Given the description of an element on the screen output the (x, y) to click on. 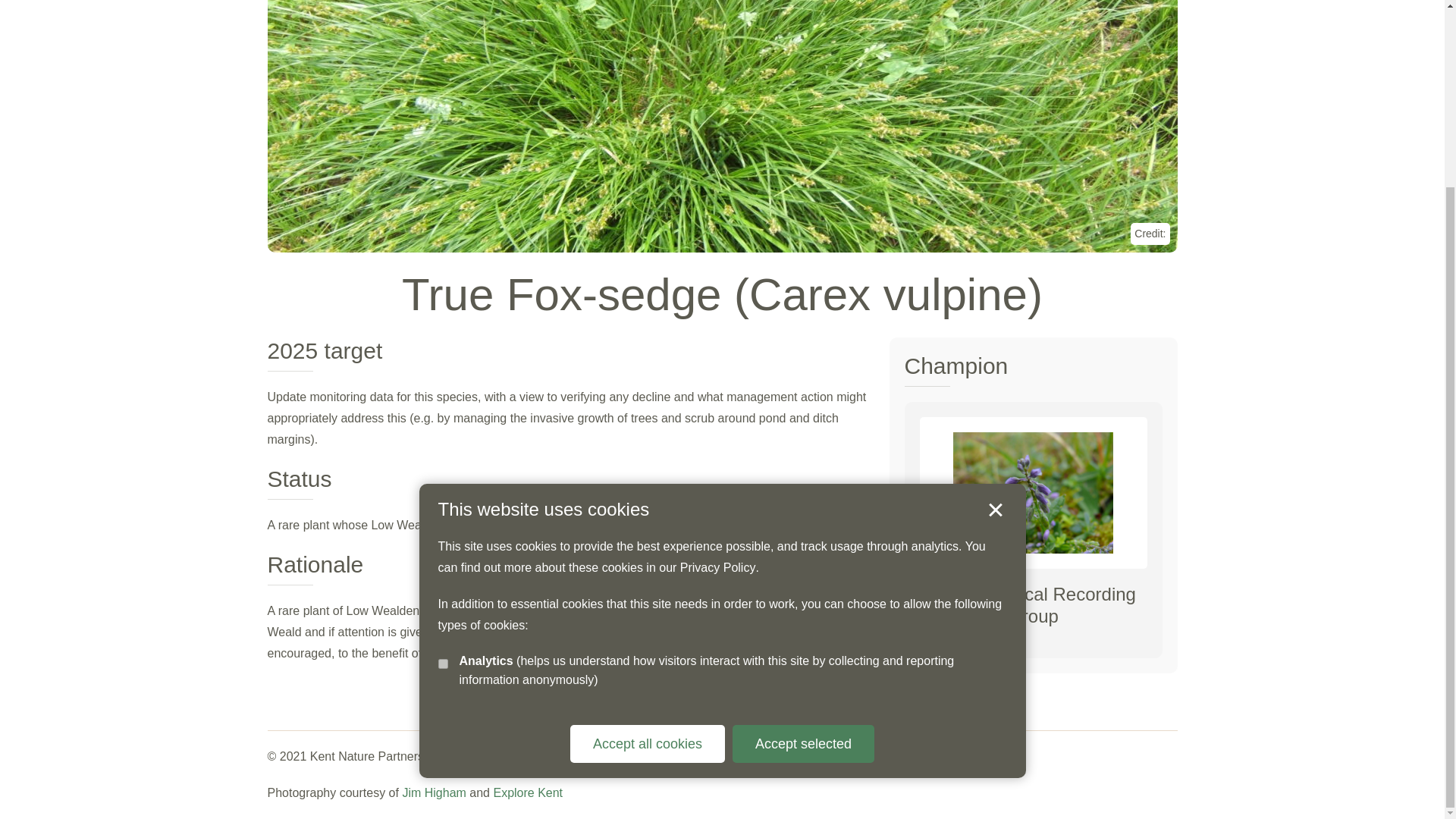
stats (443, 430)
